Given the description of an element on the screen output the (x, y) to click on. 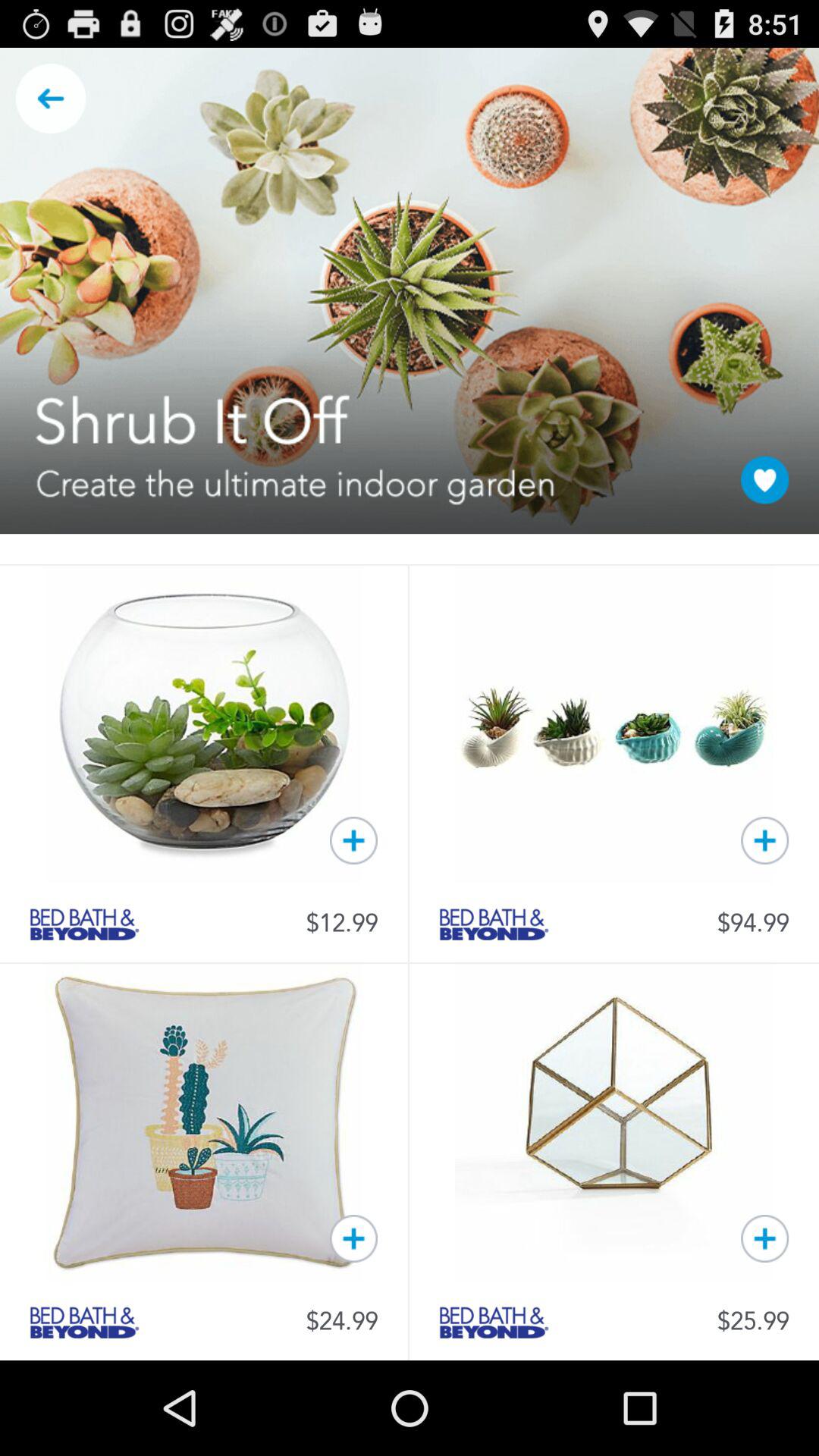
add item (764, 840)
